Given the description of an element on the screen output the (x, y) to click on. 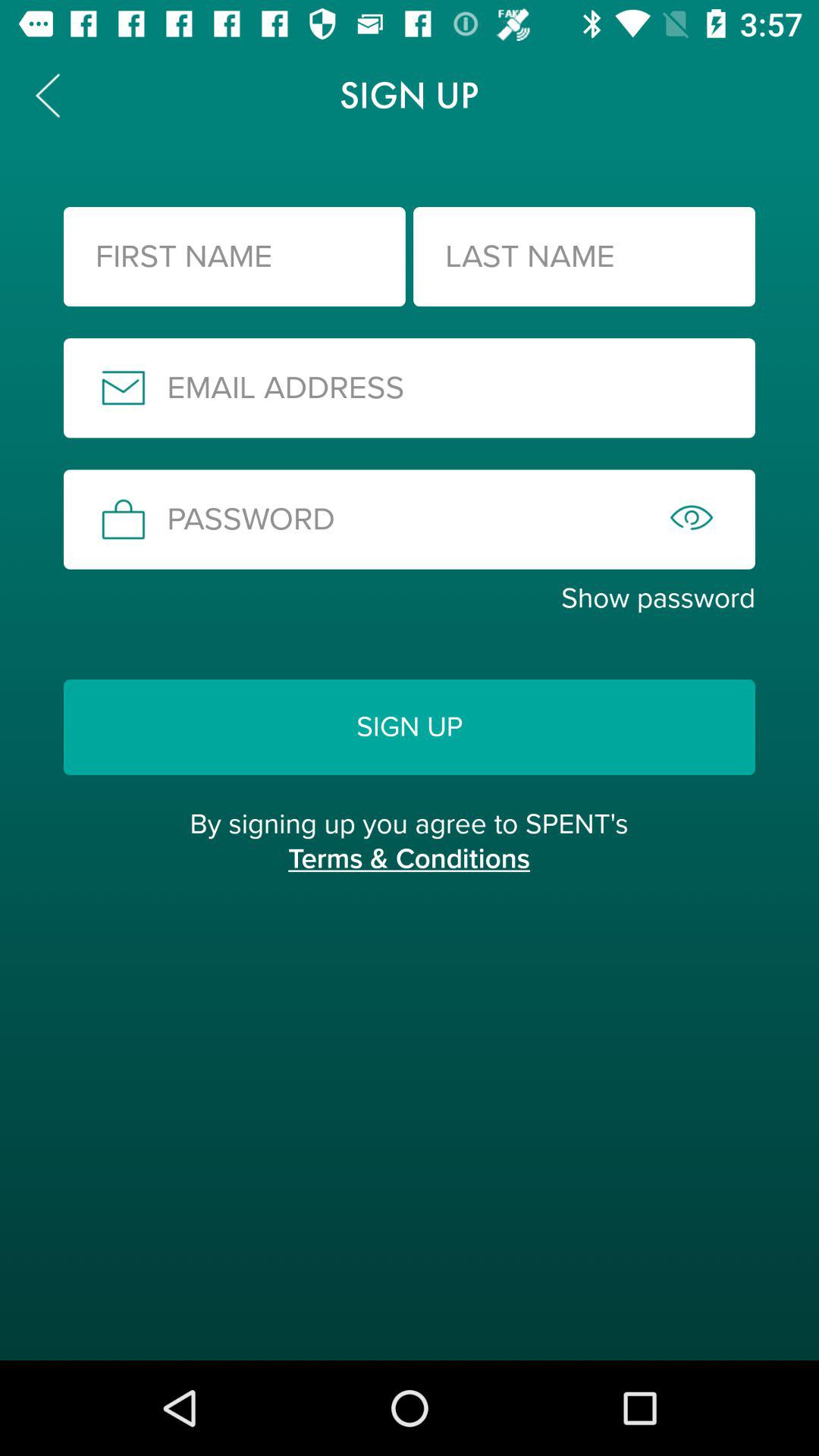
press show password (409, 598)
